Given the description of an element on the screen output the (x, y) to click on. 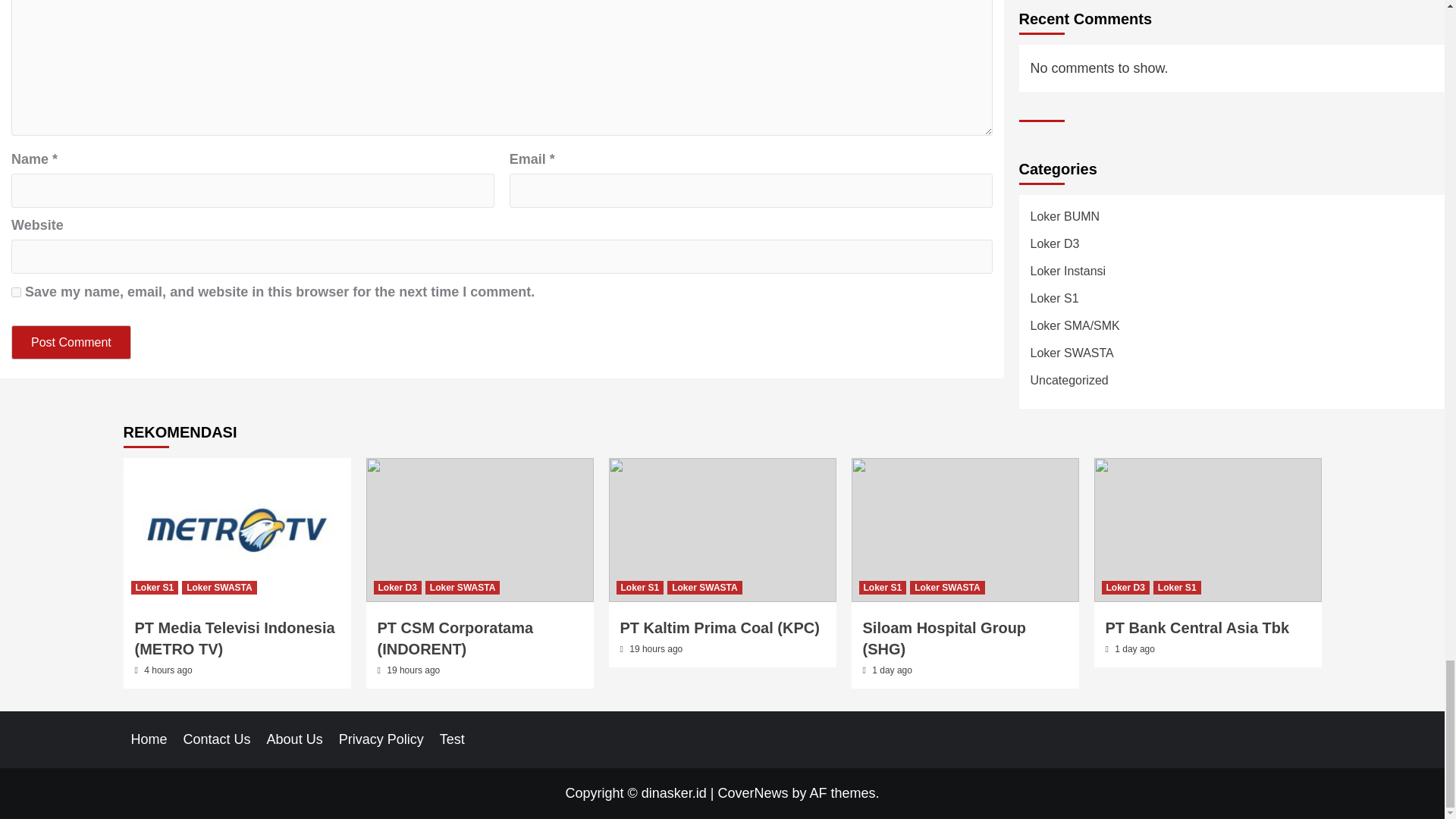
Post Comment (71, 342)
yes (16, 292)
Post Comment (71, 342)
